Given the description of an element on the screen output the (x, y) to click on. 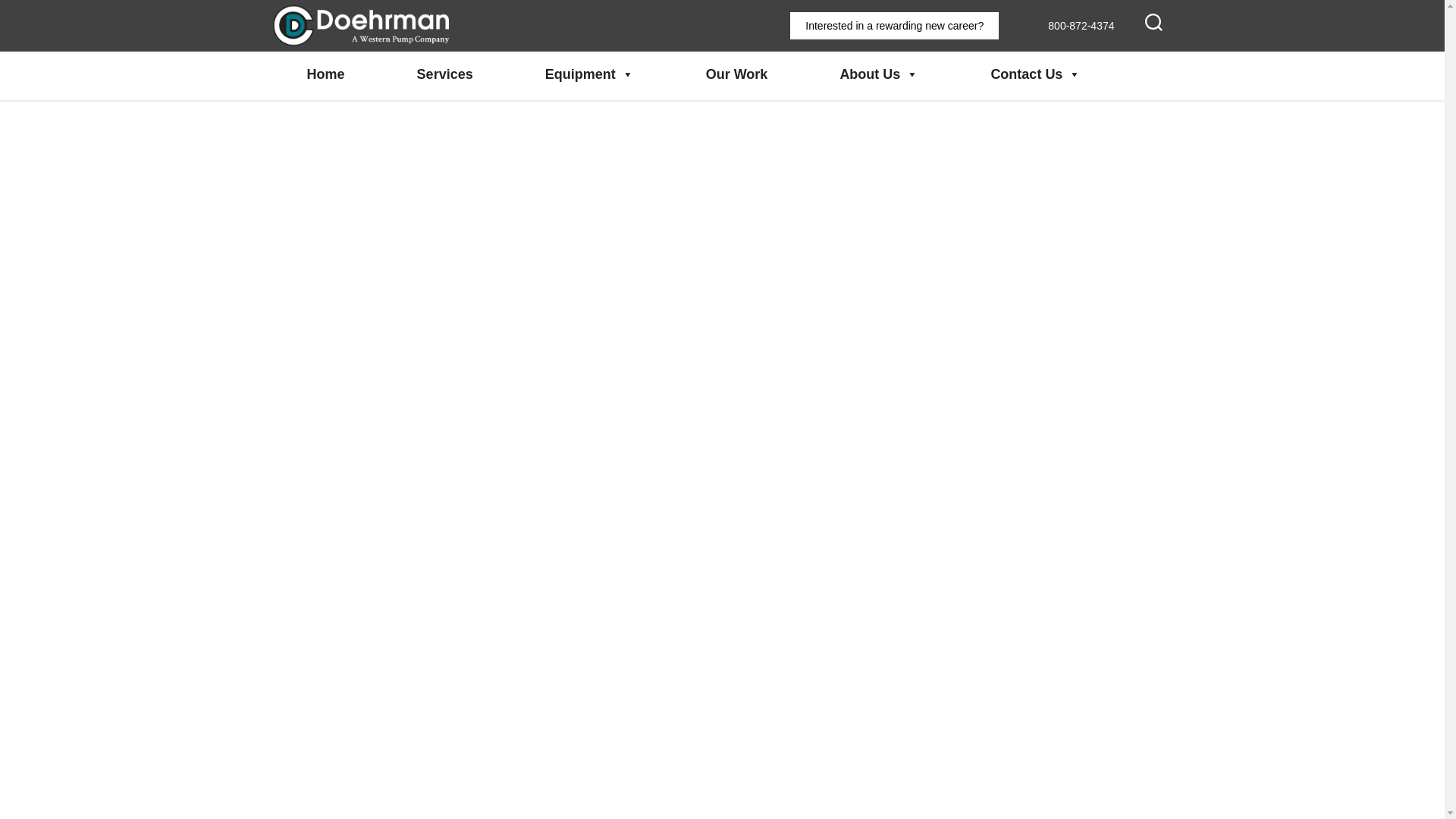
Services (444, 73)
Contact Us (1034, 73)
Home (325, 73)
Equipment (589, 73)
Our Work (737, 73)
About Us (878, 73)
Doehrman, A Western Pump Company (335, 86)
800-872-4374 (1069, 25)
Interested in a rewarding new career? (894, 25)
